Given the description of an element on the screen output the (x, y) to click on. 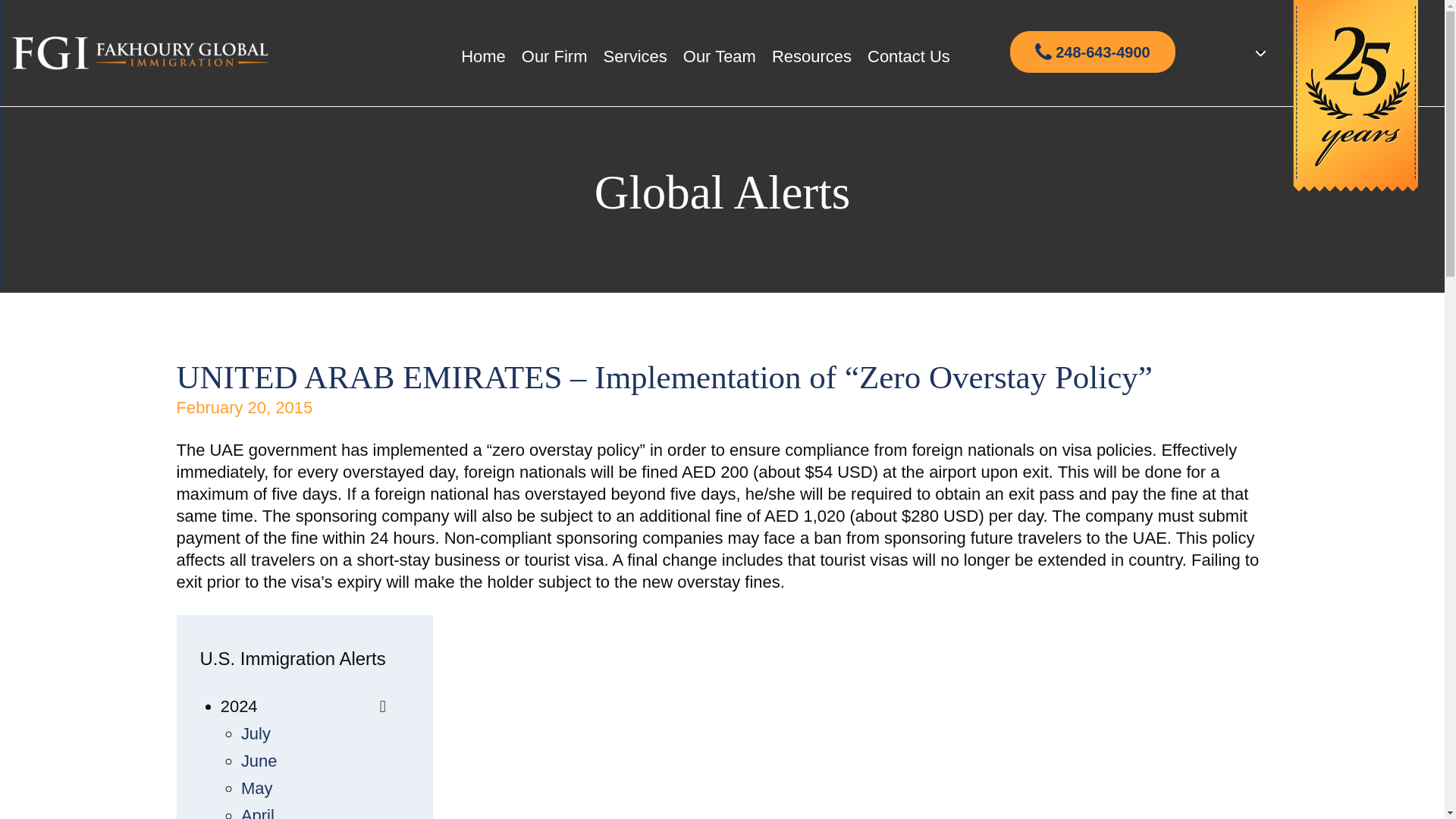
Services (634, 56)
Home (483, 56)
May (257, 787)
Our Firm (554, 56)
April (258, 812)
Our Team (718, 56)
Fakhoury Law Group, PC (140, 53)
July (255, 732)
Contact Us (908, 56)
Resources (811, 56)
